Given the description of an element on the screen output the (x, y) to click on. 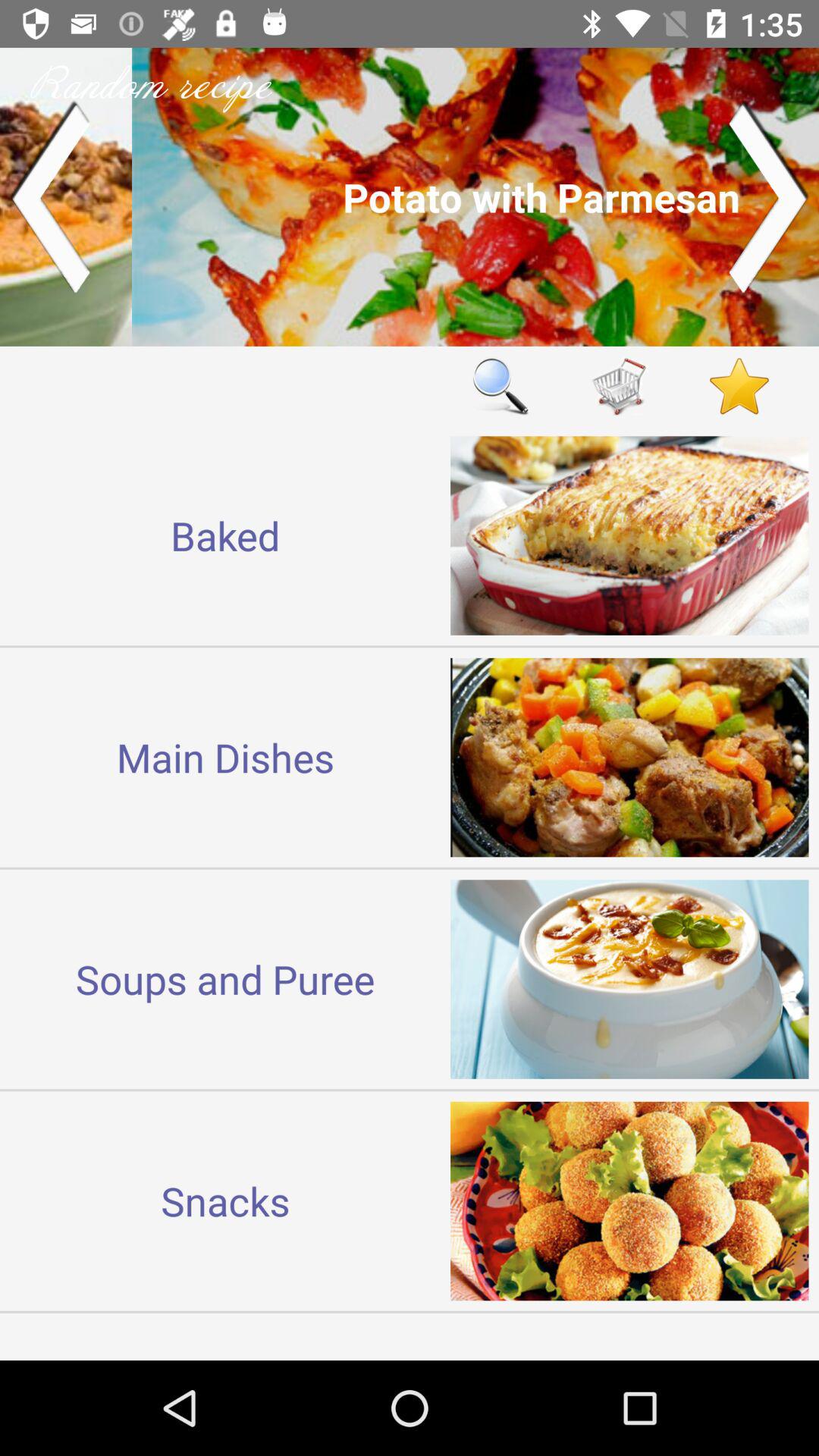
go back (49, 196)
